Given the description of an element on the screen output the (x, y) to click on. 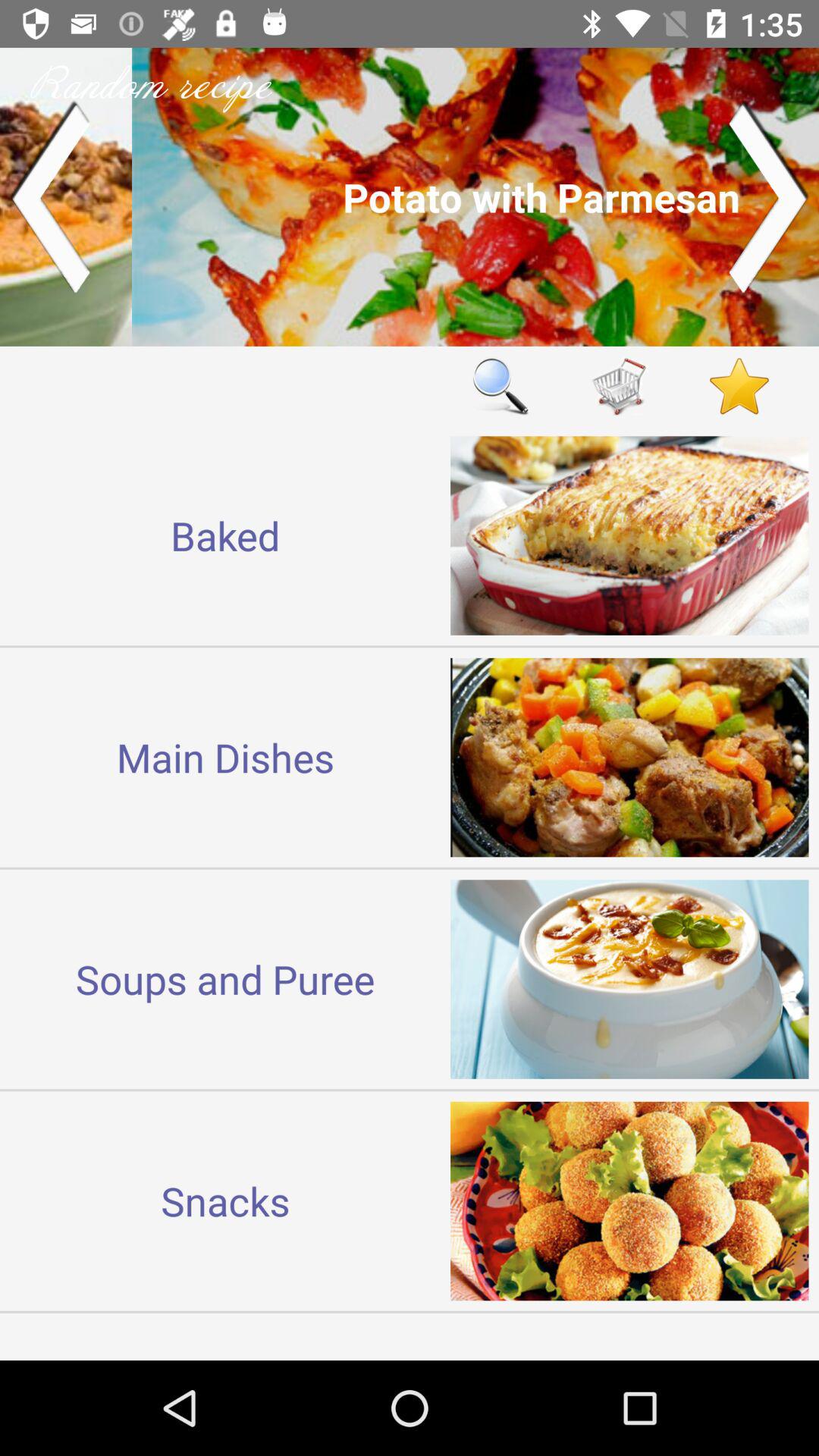
go back (49, 196)
